Given the description of an element on the screen output the (x, y) to click on. 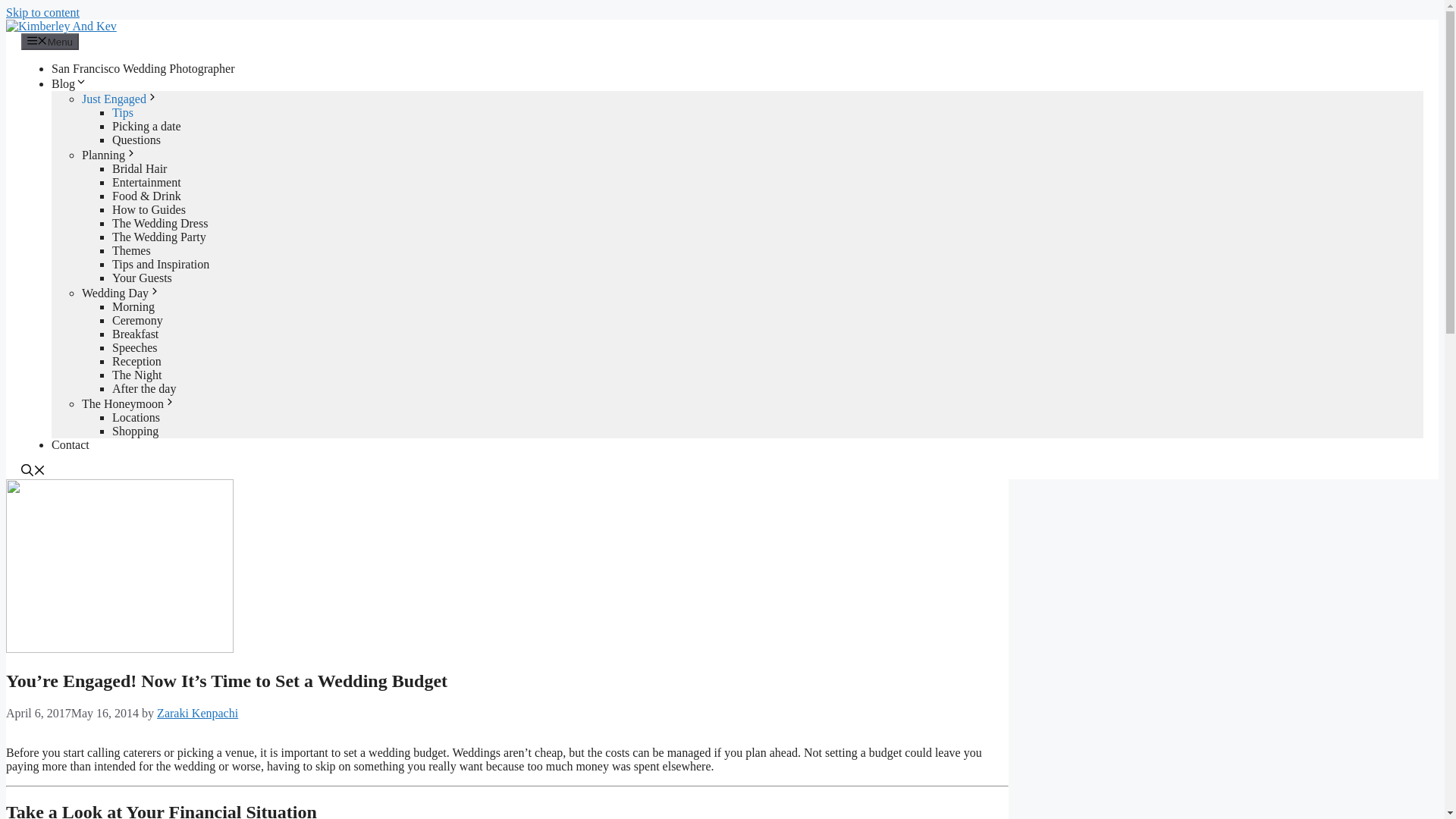
The Honeymoon (128, 403)
Ceremony (137, 319)
Breakfast (135, 333)
San Francisco Wedding Photographer (142, 68)
Menu (49, 41)
After the day (144, 388)
Tips and Inspiration (160, 264)
Just Engaged (119, 98)
Wedding Day (120, 292)
Speeches (134, 347)
The Wedding Dress (160, 223)
Picking a date (146, 125)
Themes (131, 250)
Skip to content (42, 11)
Shopping (135, 431)
